Given the description of an element on the screen output the (x, y) to click on. 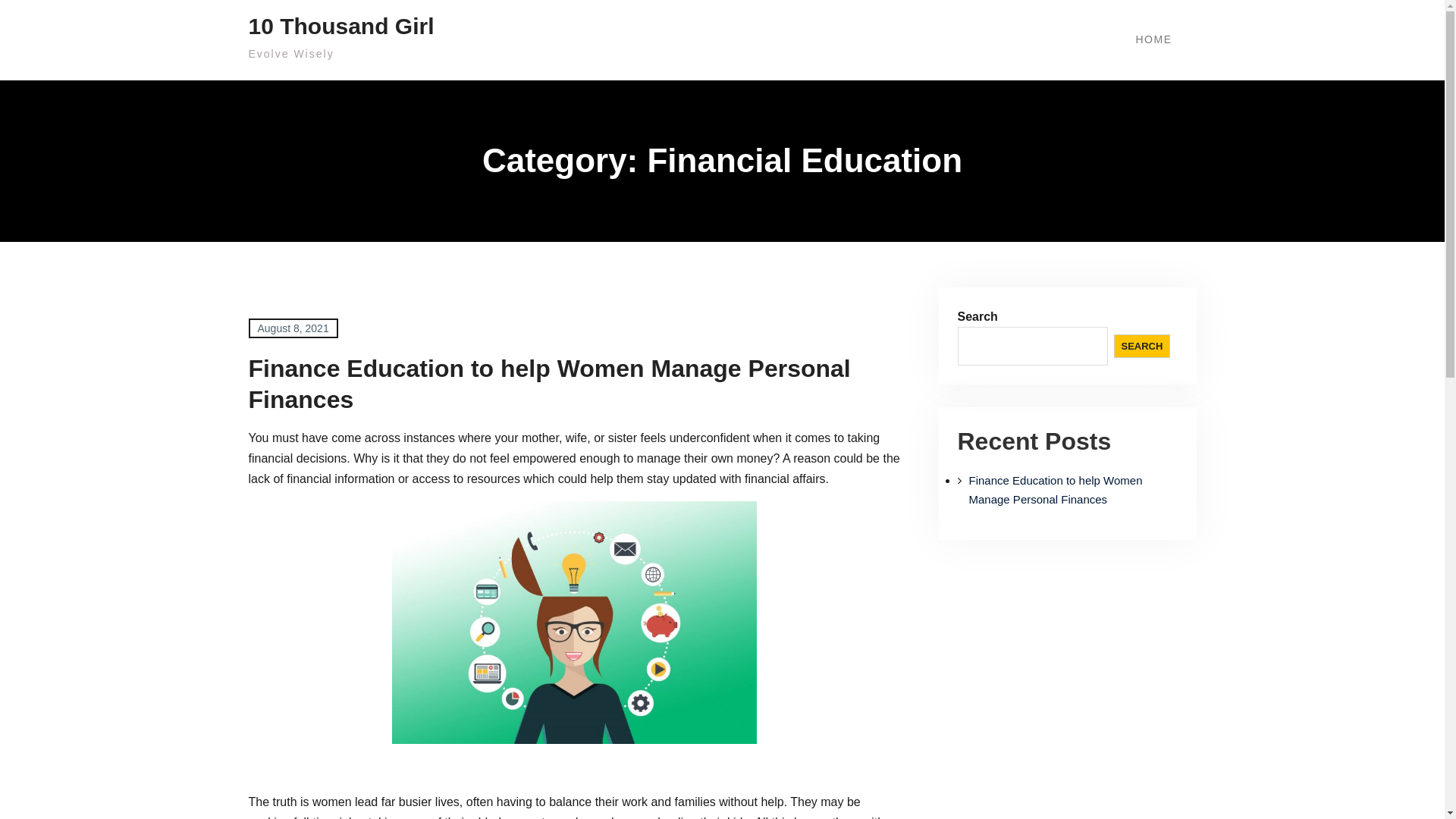
Finance Education to help Women Manage Personal Finances Element type: text (549, 384)
10 Thousand Girl Element type: text (341, 25)
Finance Education to help Women Manage Personal Finances Element type: text (1055, 489)
SEARCH Element type: text (1141, 345)
HOME Element type: text (1153, 40)
August 8, 2021 Element type: text (293, 328)
